Given the description of an element on the screen output the (x, y) to click on. 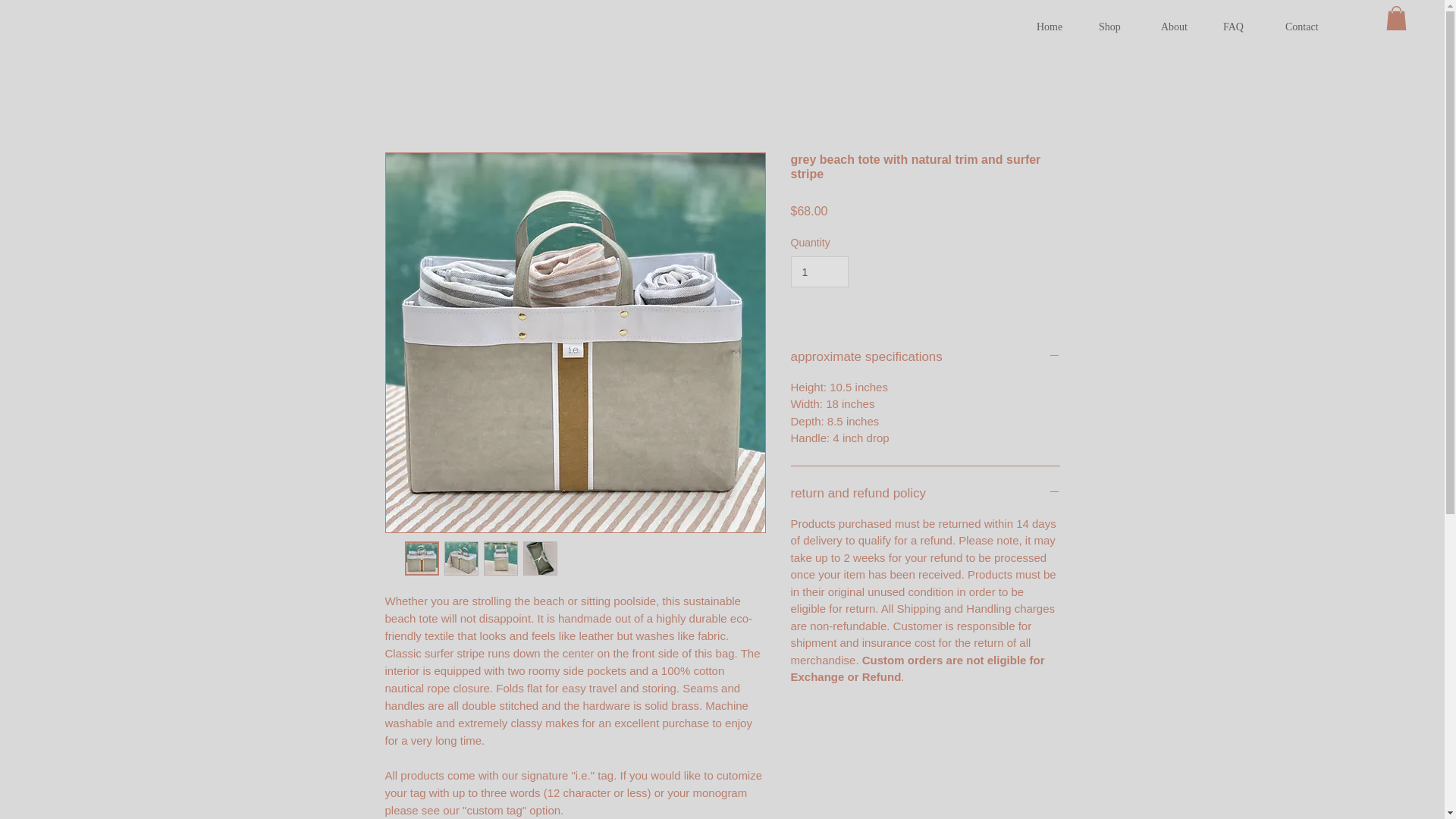
Shop (1118, 27)
approximate specifications (924, 357)
1 (818, 271)
return and refund policy (924, 493)
Home (1056, 27)
Contact (1305, 27)
FAQ (1242, 27)
About (1180, 27)
